Given the description of an element on the screen output the (x, y) to click on. 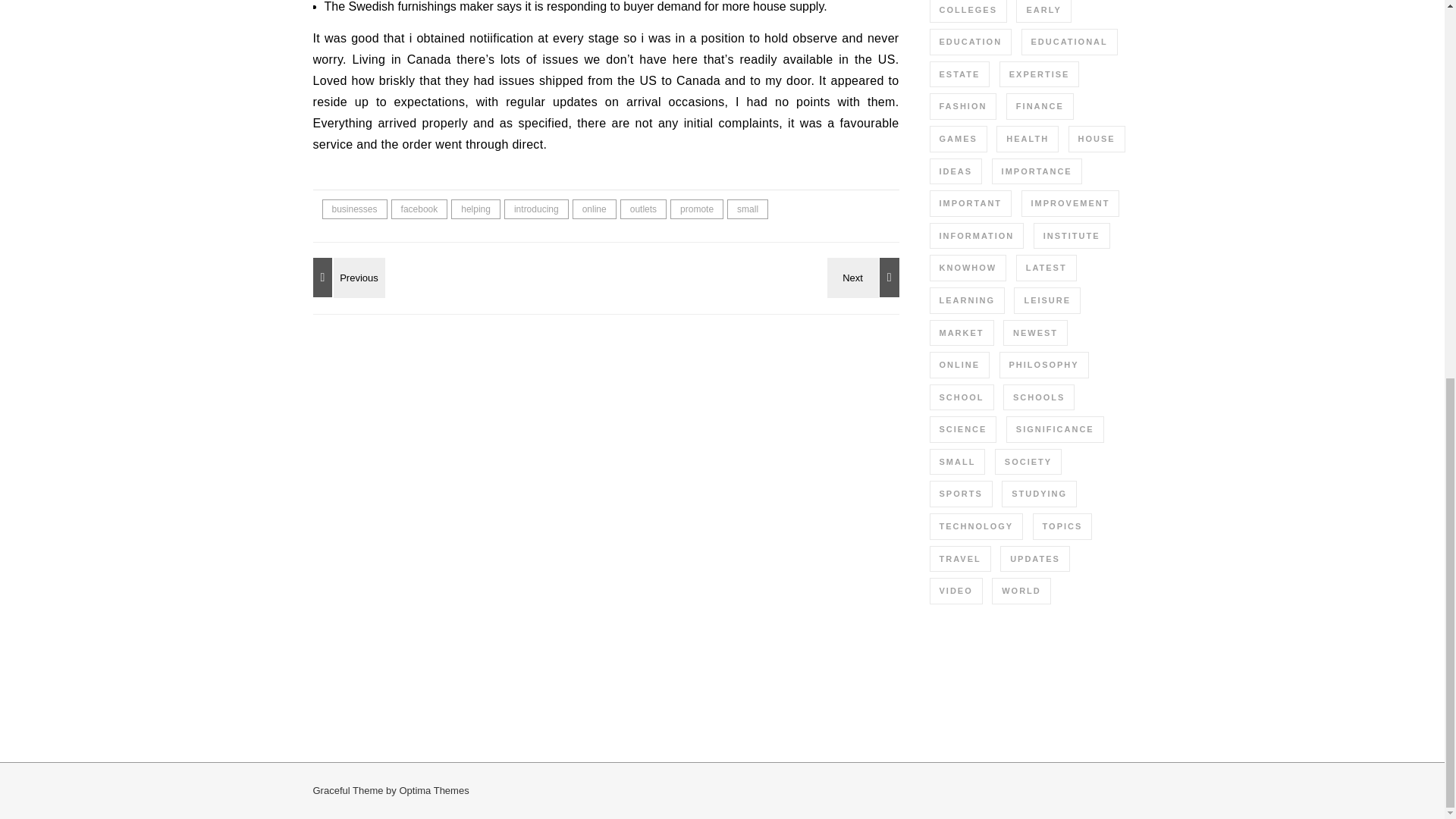
helping (475, 209)
outlets (643, 209)
businesses (354, 209)
facebook (419, 209)
introducing (536, 209)
small (747, 209)
online (593, 209)
promote (696, 209)
